Given the description of an element on the screen output the (x, y) to click on. 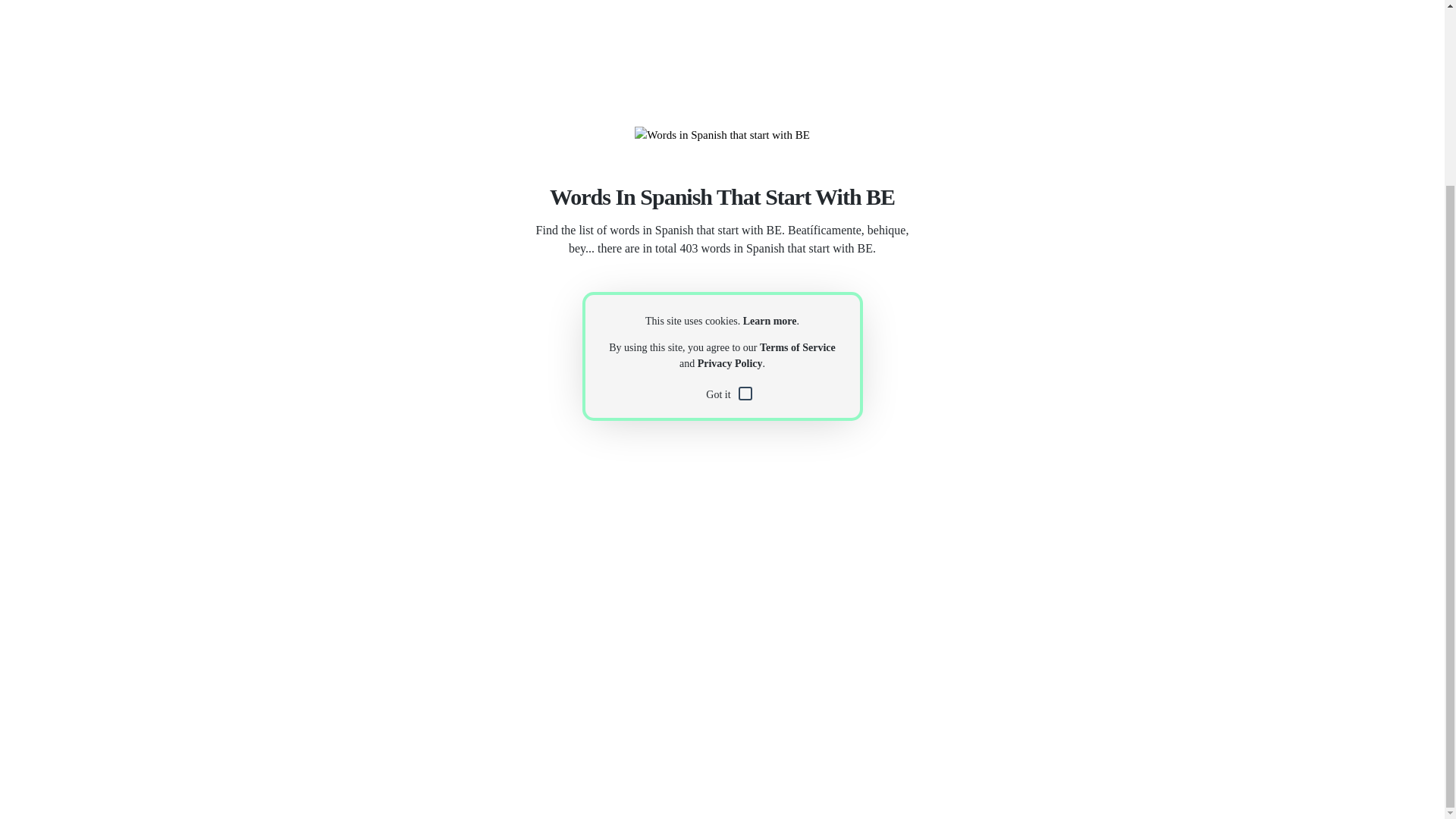
Learn more (769, 320)
Learn more (769, 320)
Privacy Policy (729, 363)
Terms of Service (797, 347)
Privacy Policy (729, 363)
Terms of Service (797, 347)
